Given the description of an element on the screen output the (x, y) to click on. 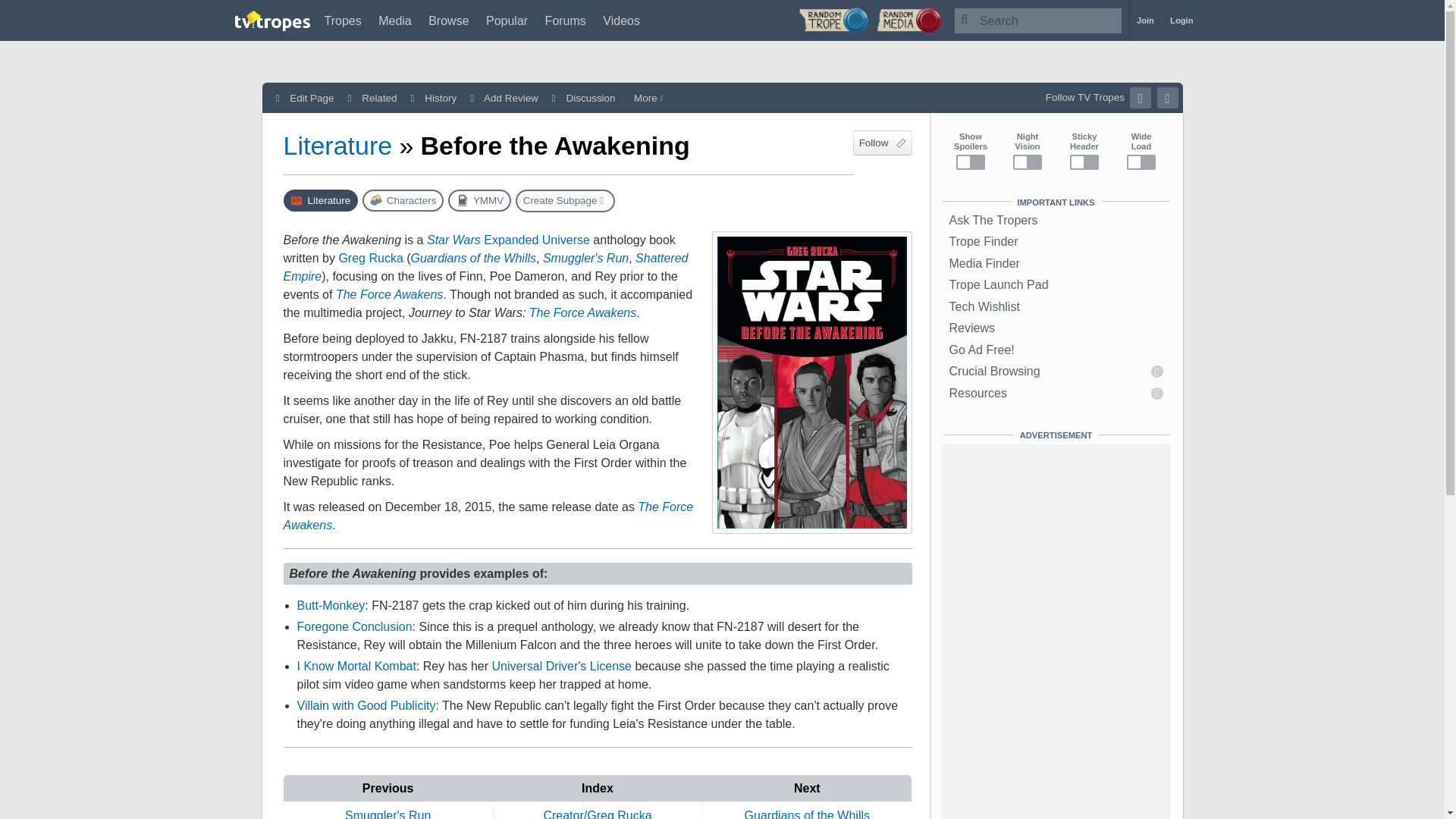
Popular (506, 20)
The Literature page (320, 200)
Login (1181, 20)
Media (395, 20)
The Characters page (403, 200)
Browse (448, 20)
The YMMV page (479, 200)
Tropes (342, 20)
Forums (565, 20)
Videos (621, 20)
